Given the description of an element on the screen output the (x, y) to click on. 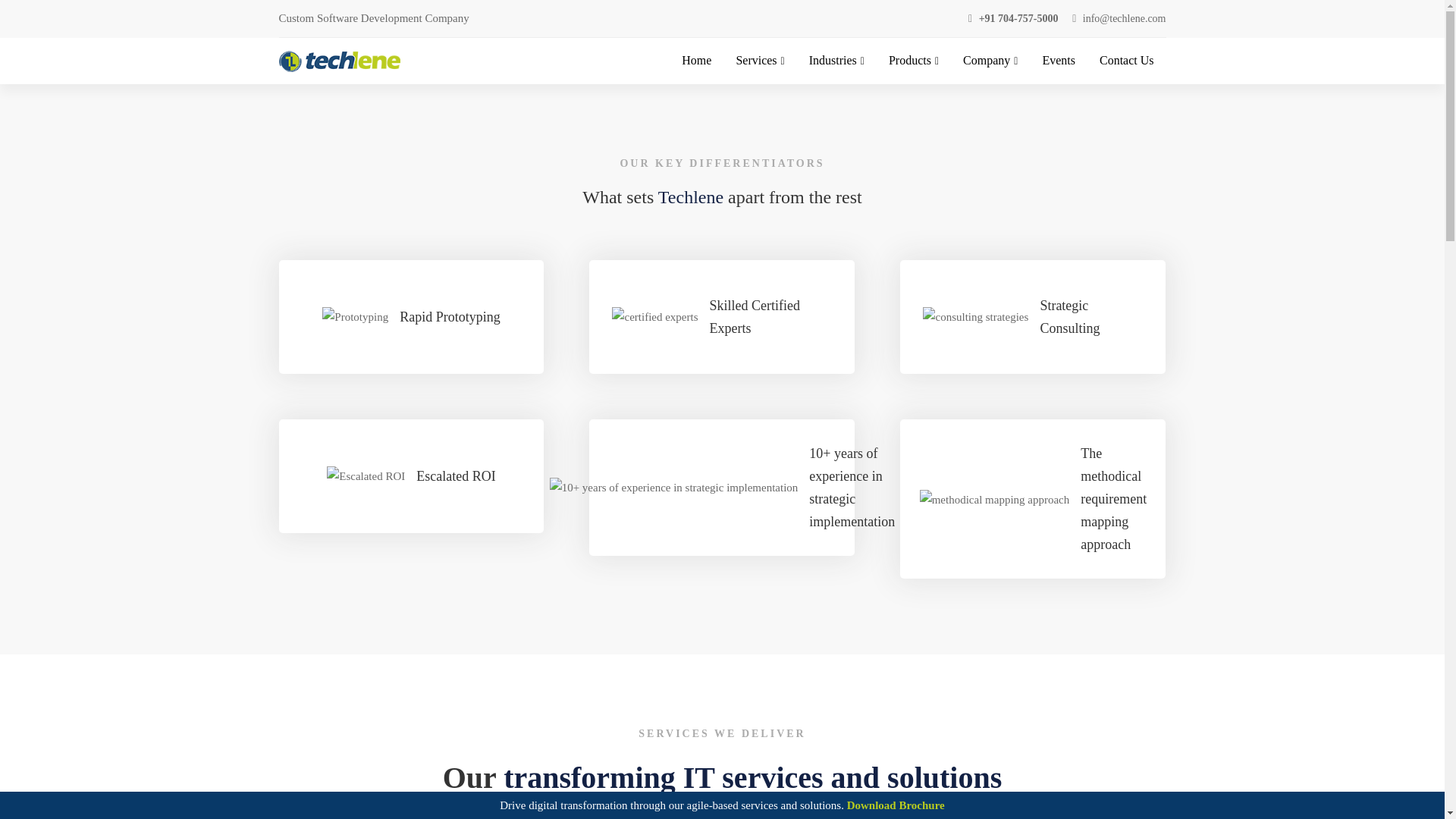
Custom Software Development Company (373, 17)
Contact Us (1126, 60)
Services (759, 60)
Products (913, 60)
Industries (837, 60)
Company (989, 60)
